Given the description of an element on the screen output the (x, y) to click on. 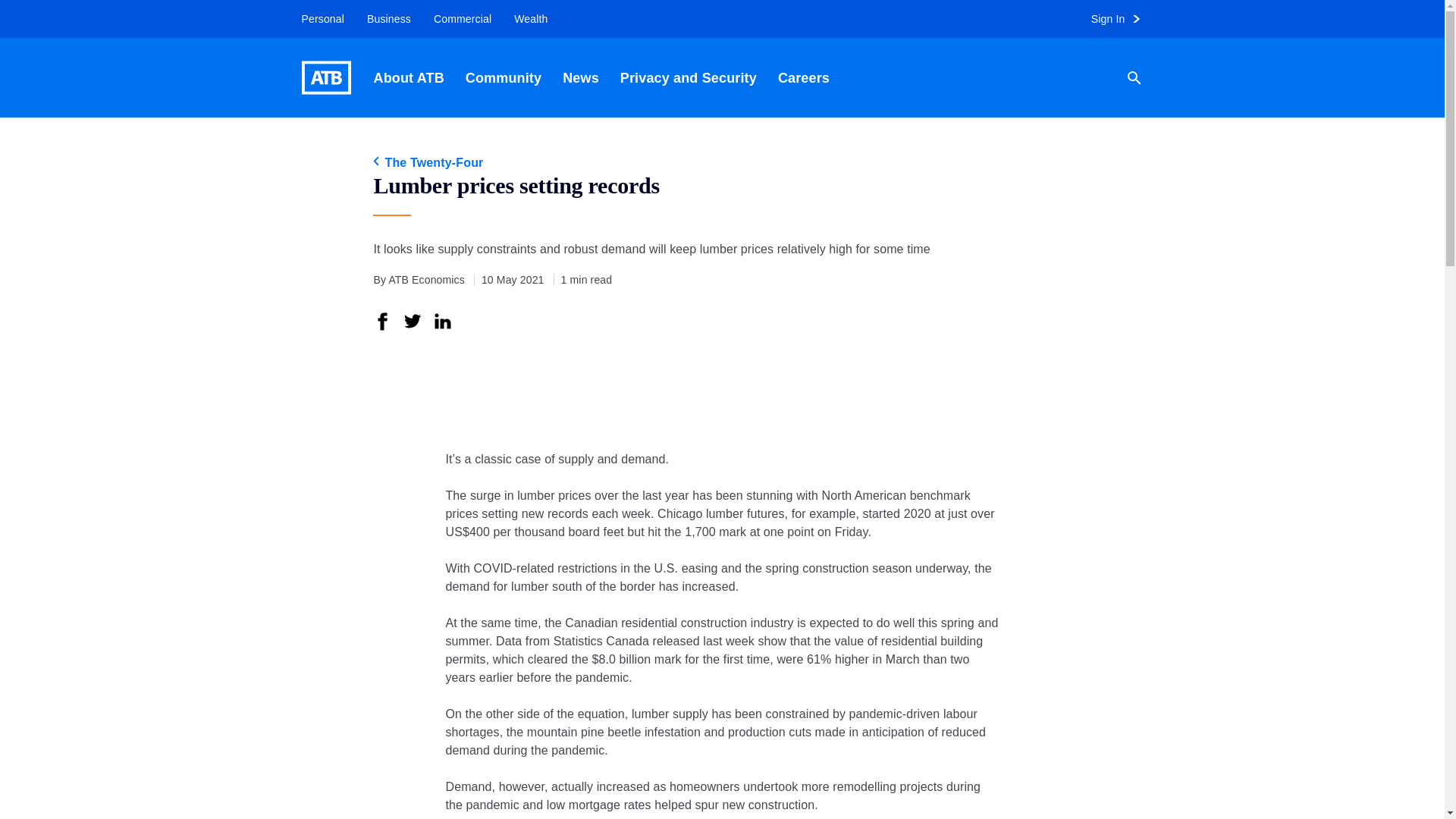
Personal (317, 19)
News (580, 77)
Business (388, 19)
The Twenty-Four (721, 162)
Commercial (462, 19)
Wealth (530, 19)
Sign In (1122, 19)
Privacy and Security (688, 77)
Careers (803, 77)
Community (502, 77)
